Given the description of an element on the screen output the (x, y) to click on. 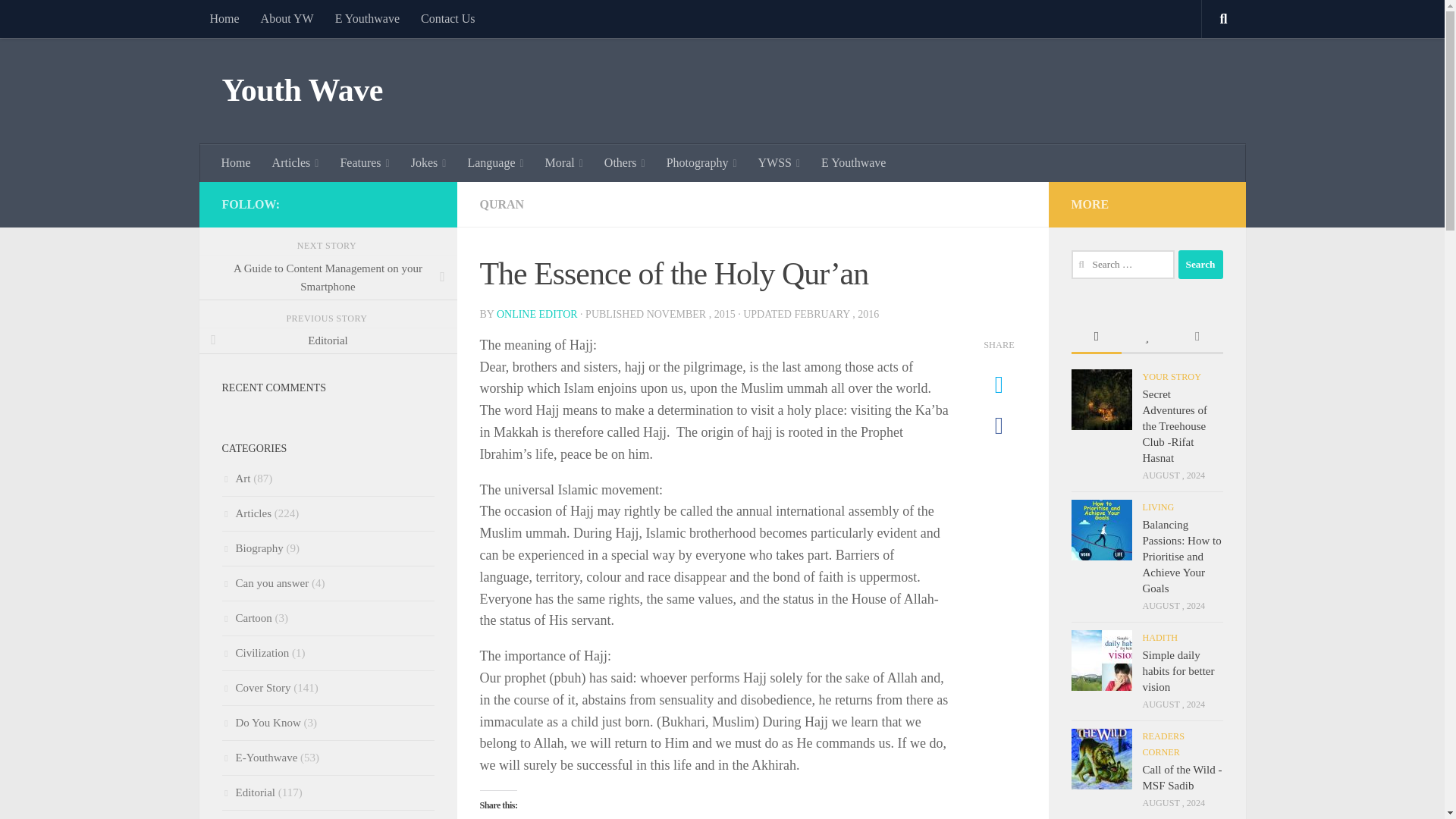
Recent Posts (1095, 337)
Skip to content (59, 20)
Recent Comments (1197, 337)
Popular Posts (1146, 337)
Search (1200, 264)
Search (1200, 264)
Posts by Online Editor (537, 314)
